Given the description of an element on the screen output the (x, y) to click on. 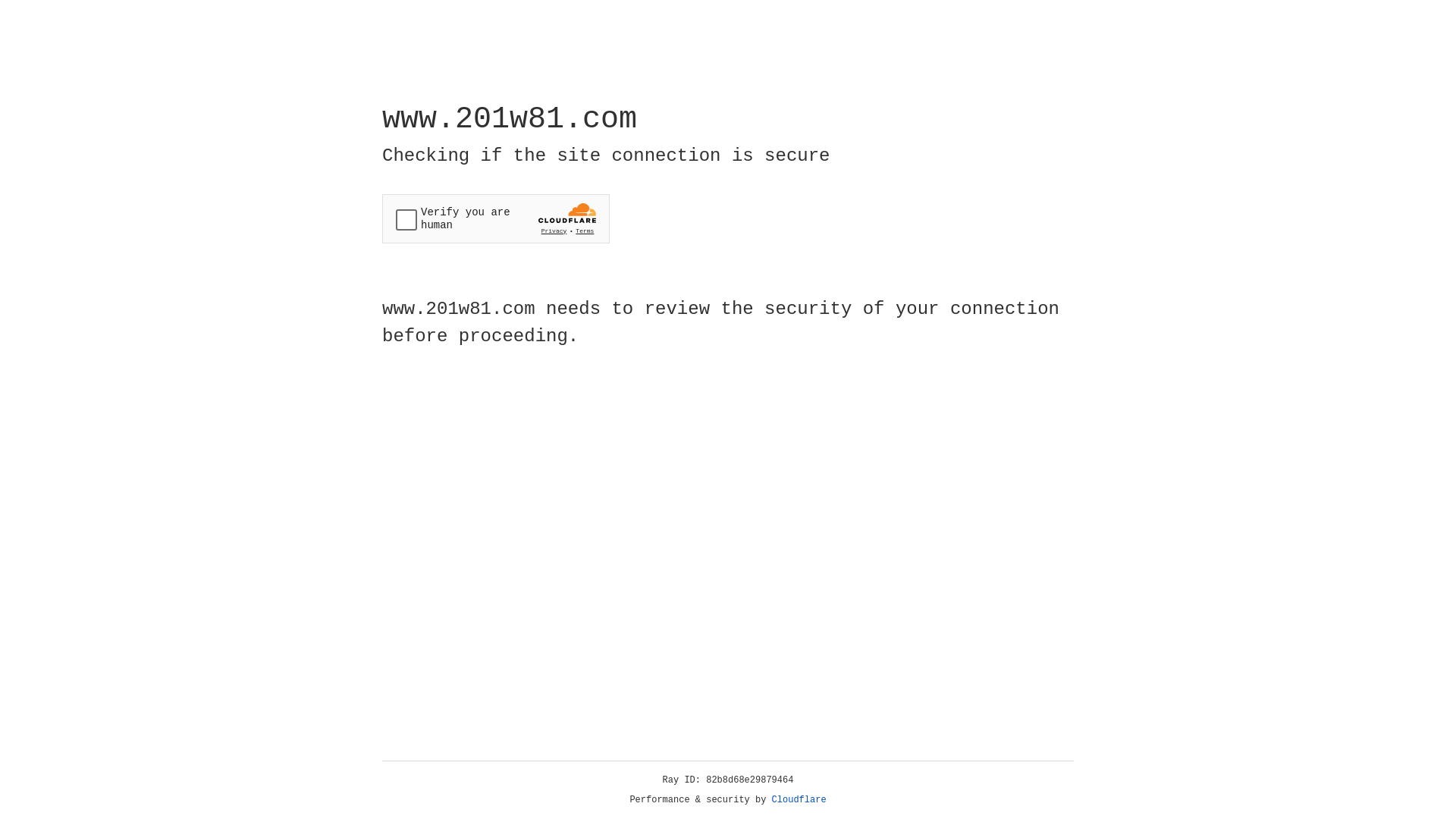
Widget containing a Cloudflare security challenge Element type: hover (495, 218)
Cloudflare Element type: text (798, 799)
